Given the description of an element on the screen output the (x, y) to click on. 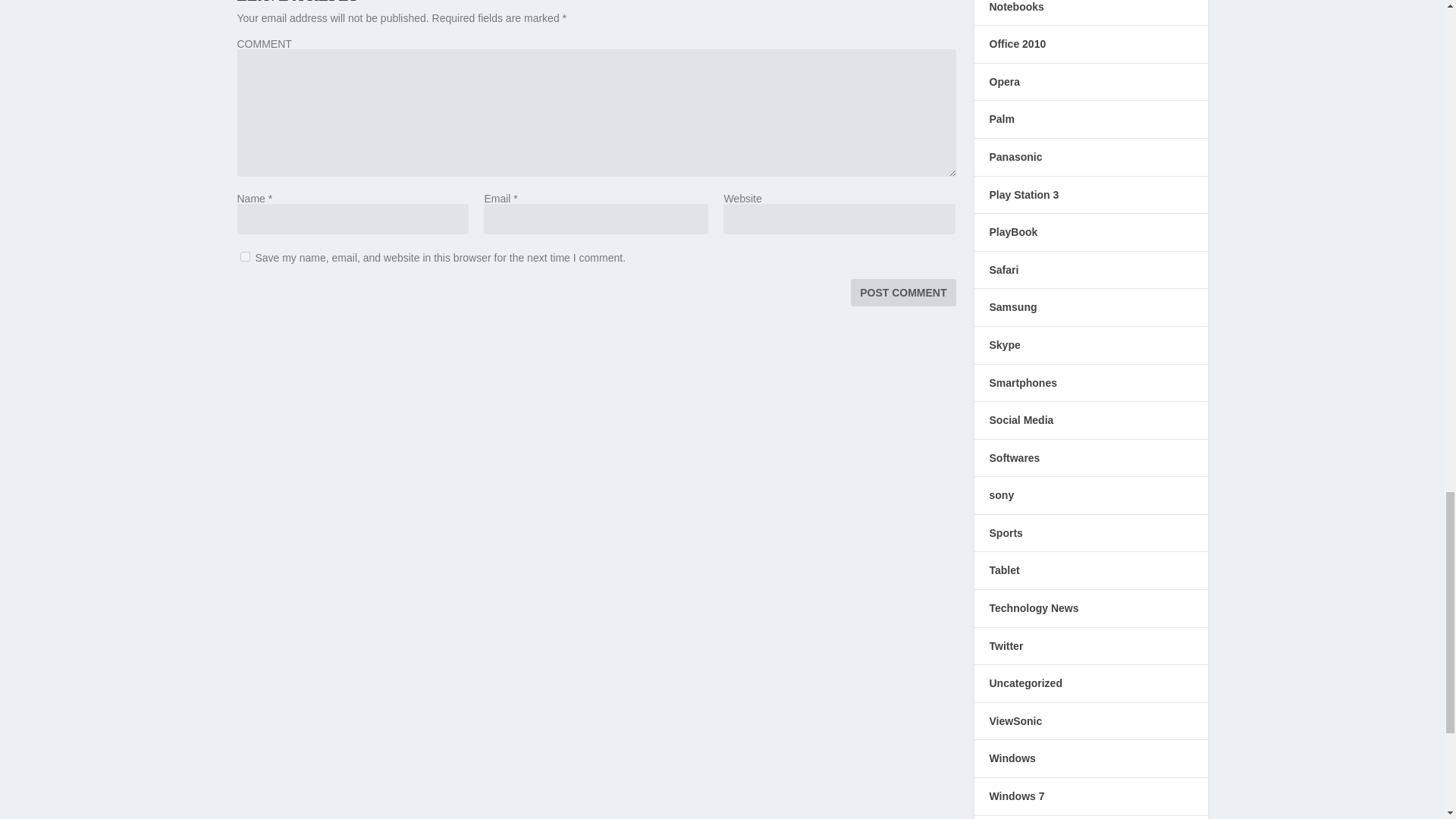
Post Comment (902, 292)
Post Comment (902, 292)
yes (244, 256)
